Given the description of an element on the screen output the (x, y) to click on. 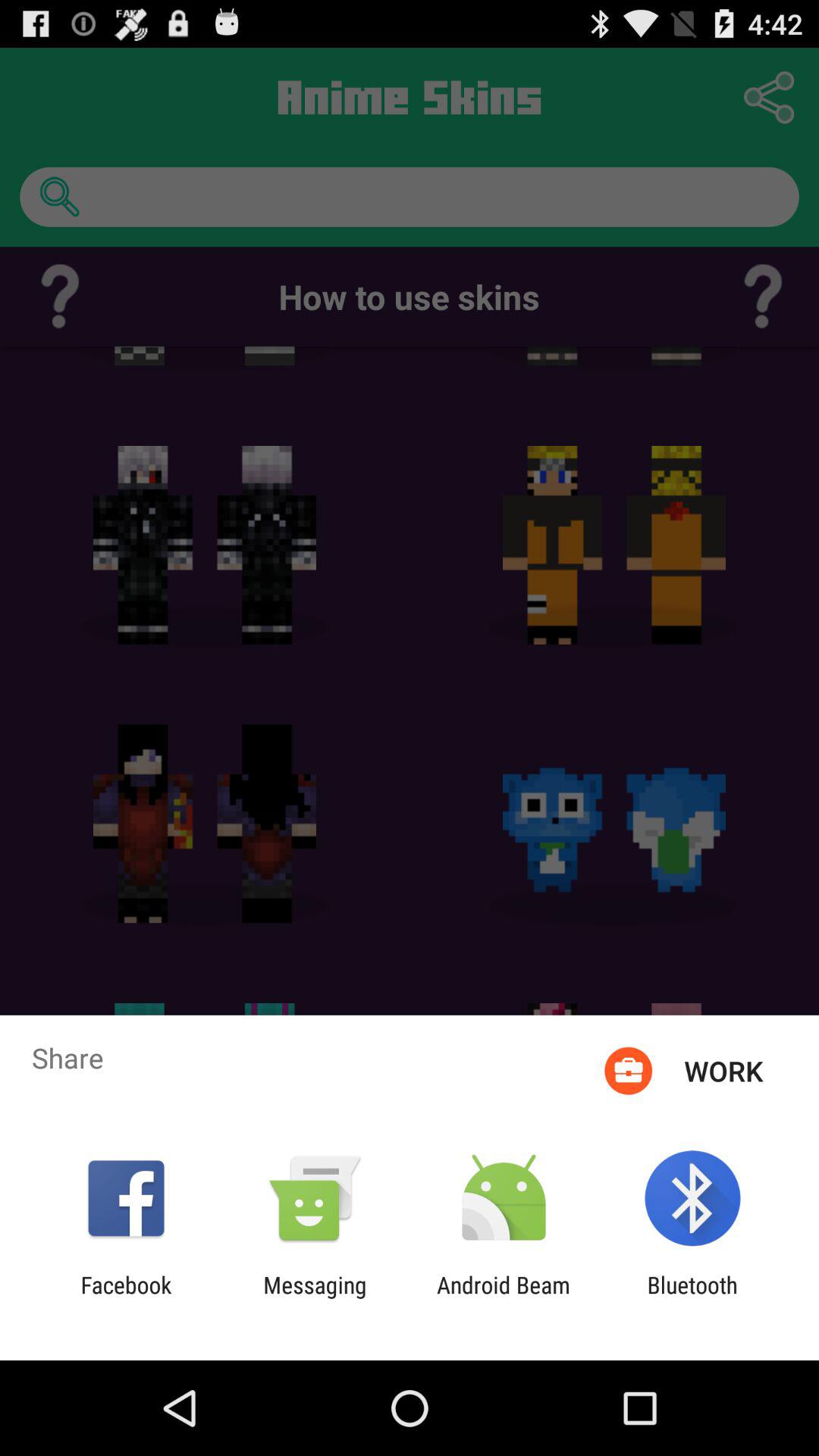
open the bluetooth item (692, 1298)
